Given the description of an element on the screen output the (x, y) to click on. 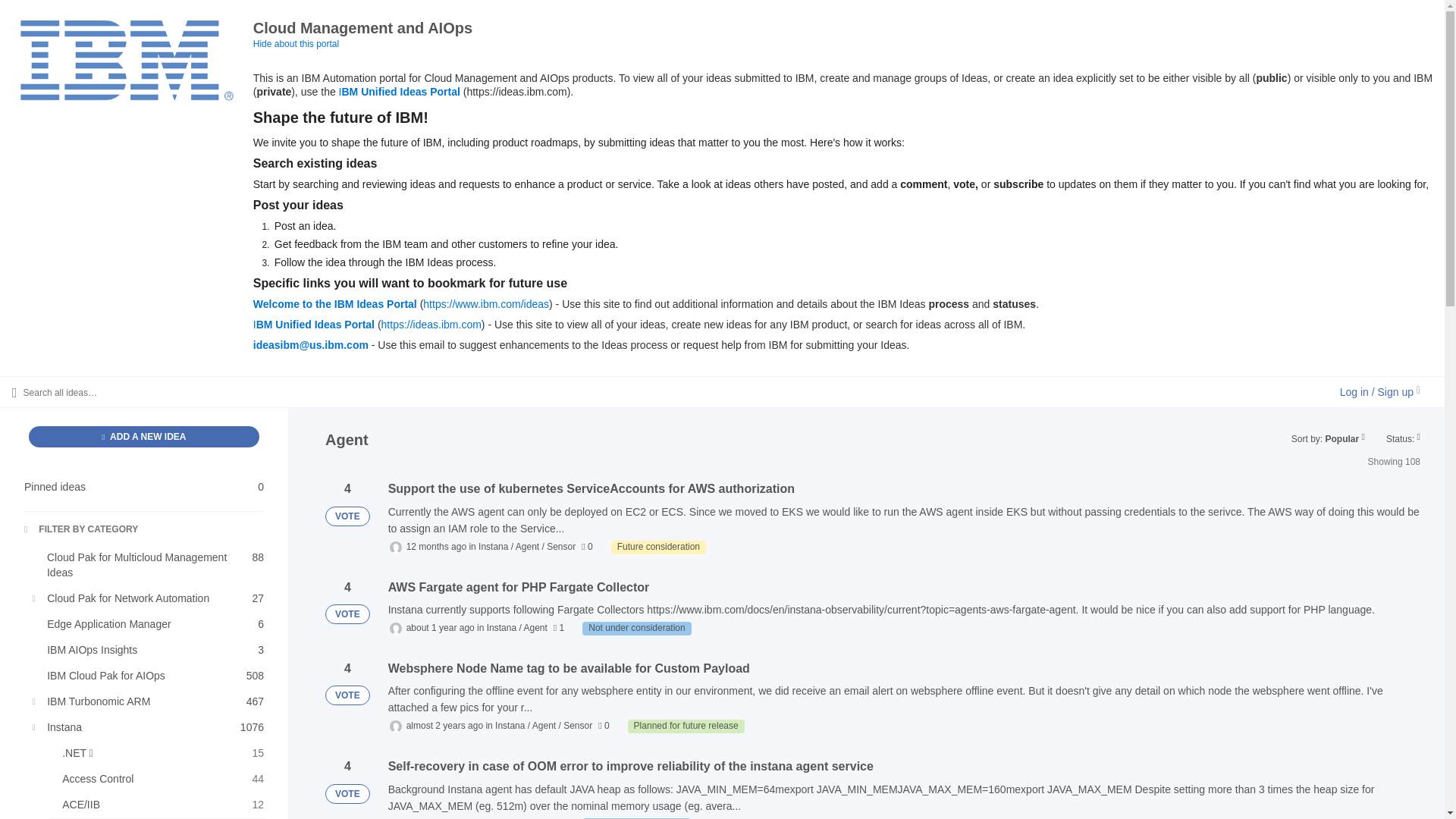
ADD A NEW IDEA (150, 701)
Not under consideration (150, 564)
Planned for future release (144, 436)
Not under consideration (143, 486)
IBM Unified Ideas Portal (636, 628)
Future consideration (150, 598)
FILTER BY CATEGORY (685, 726)
